Given the description of an element on the screen output the (x, y) to click on. 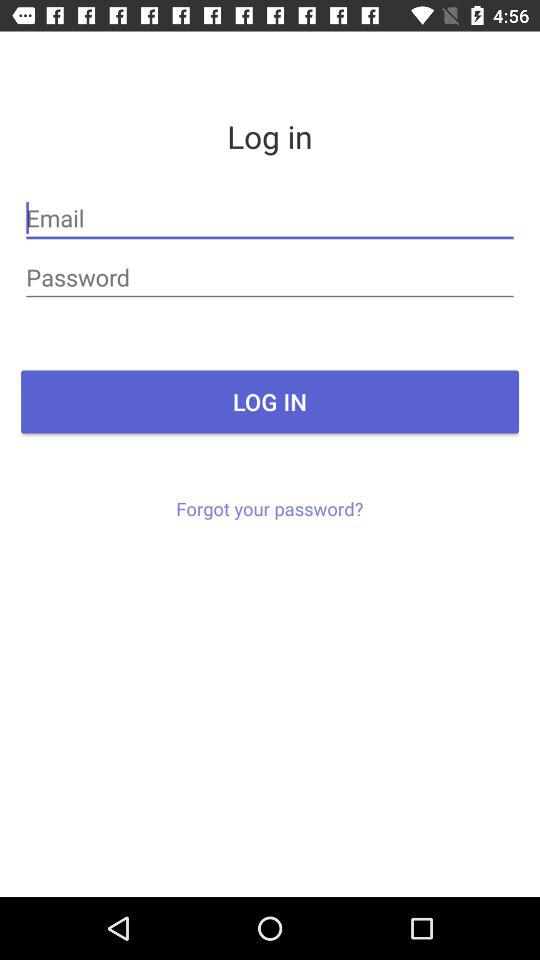
click forgot your password? icon (269, 508)
